Given the description of an element on the screen output the (x, y) to click on. 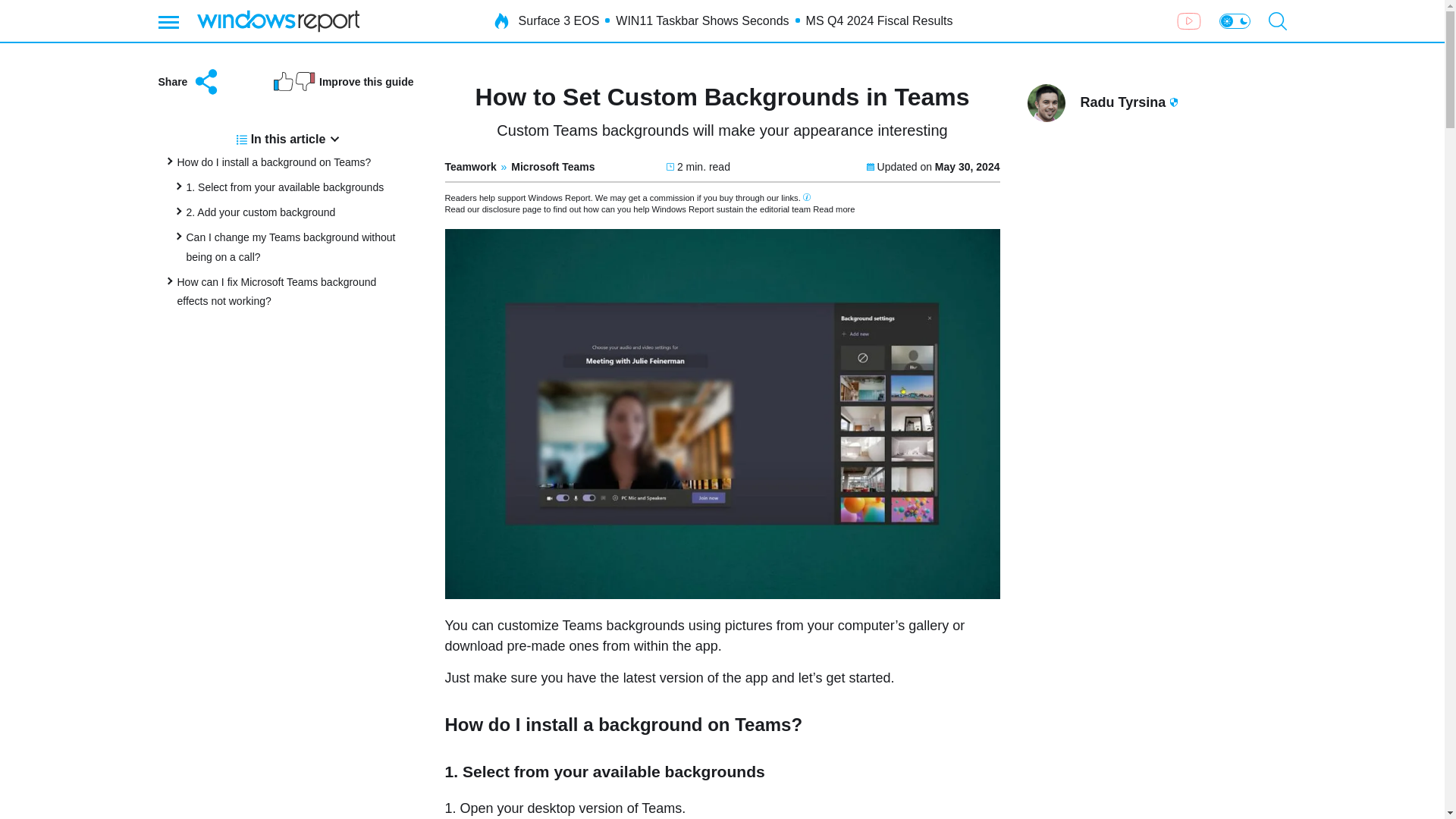
How do I install a background on Teams? (274, 162)
2. Add your custom background (261, 212)
Surface 3 EOS (558, 21)
MS Q4 2024 Fiscal Results (879, 21)
WIN11 Taskbar Shows Seconds (702, 21)
Open search bar (1276, 21)
Share (189, 81)
1. Select from your available backgrounds (285, 186)
Share this article (189, 81)
